Given the description of an element on the screen output the (x, y) to click on. 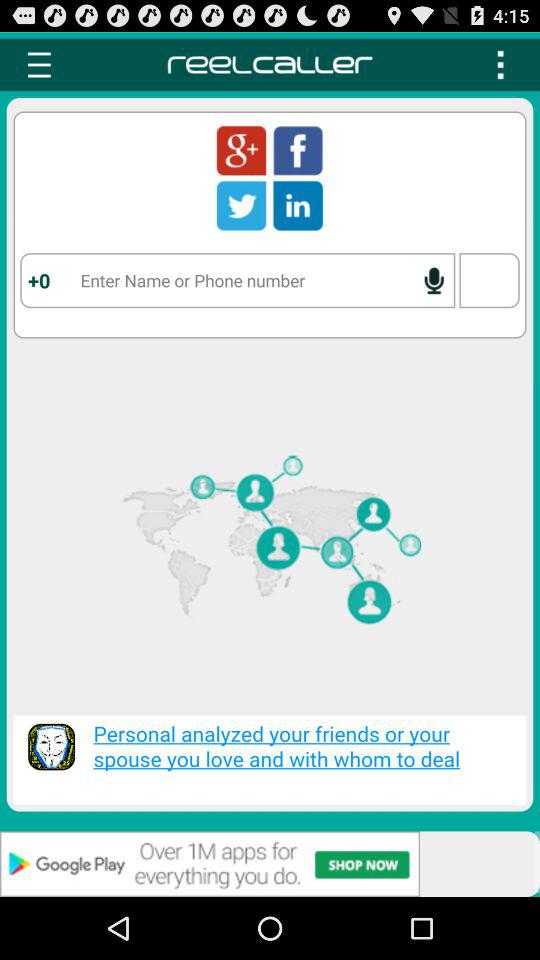
select the menu button (500, 65)
select the image below phone number (270, 550)
select the box present below the three dot icon (489, 280)
click on the mike option (434, 281)
